Given the description of an element on the screen output the (x, y) to click on. 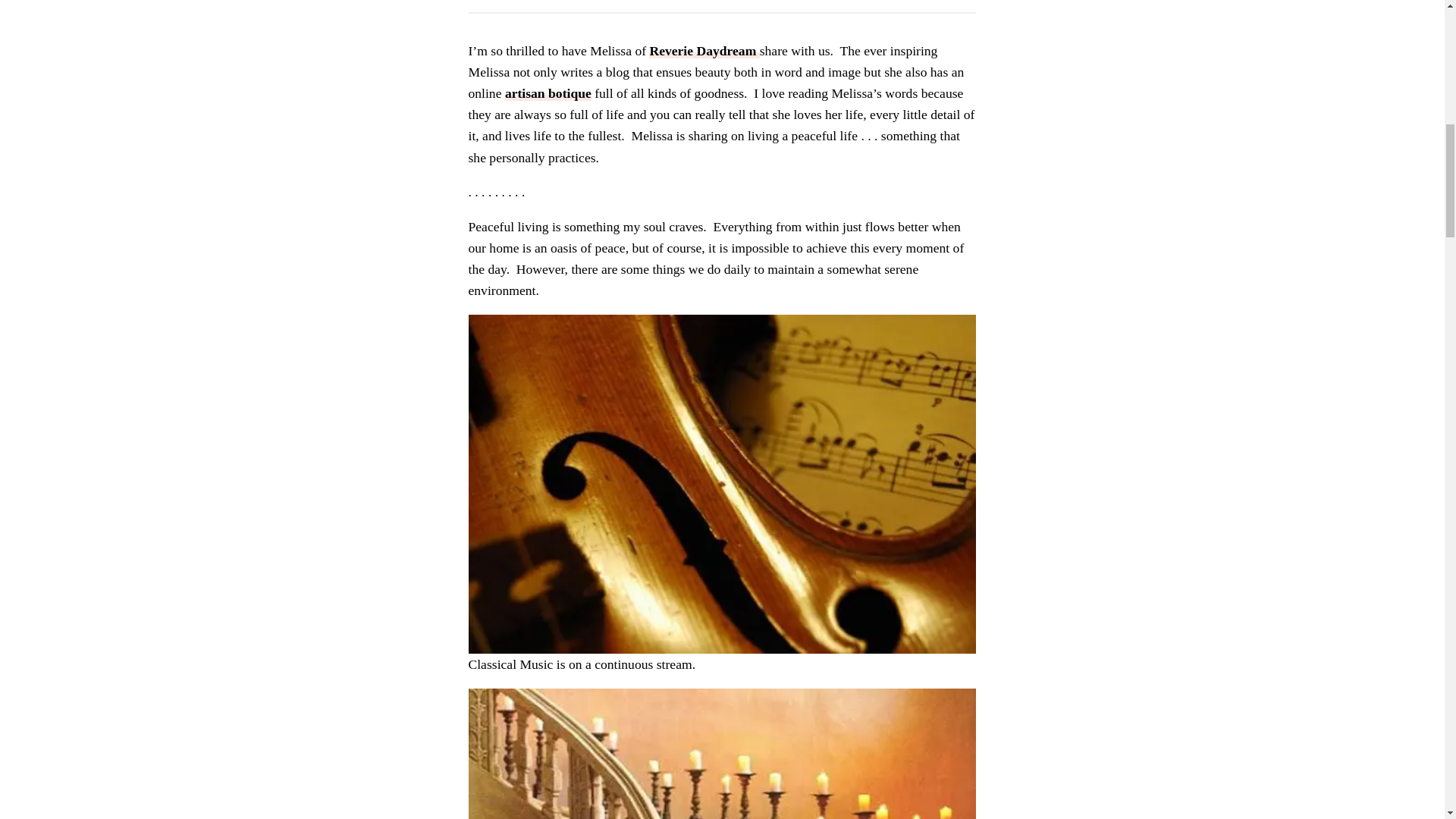
image002 (722, 753)
